Given the description of an element on the screen output the (x, y) to click on. 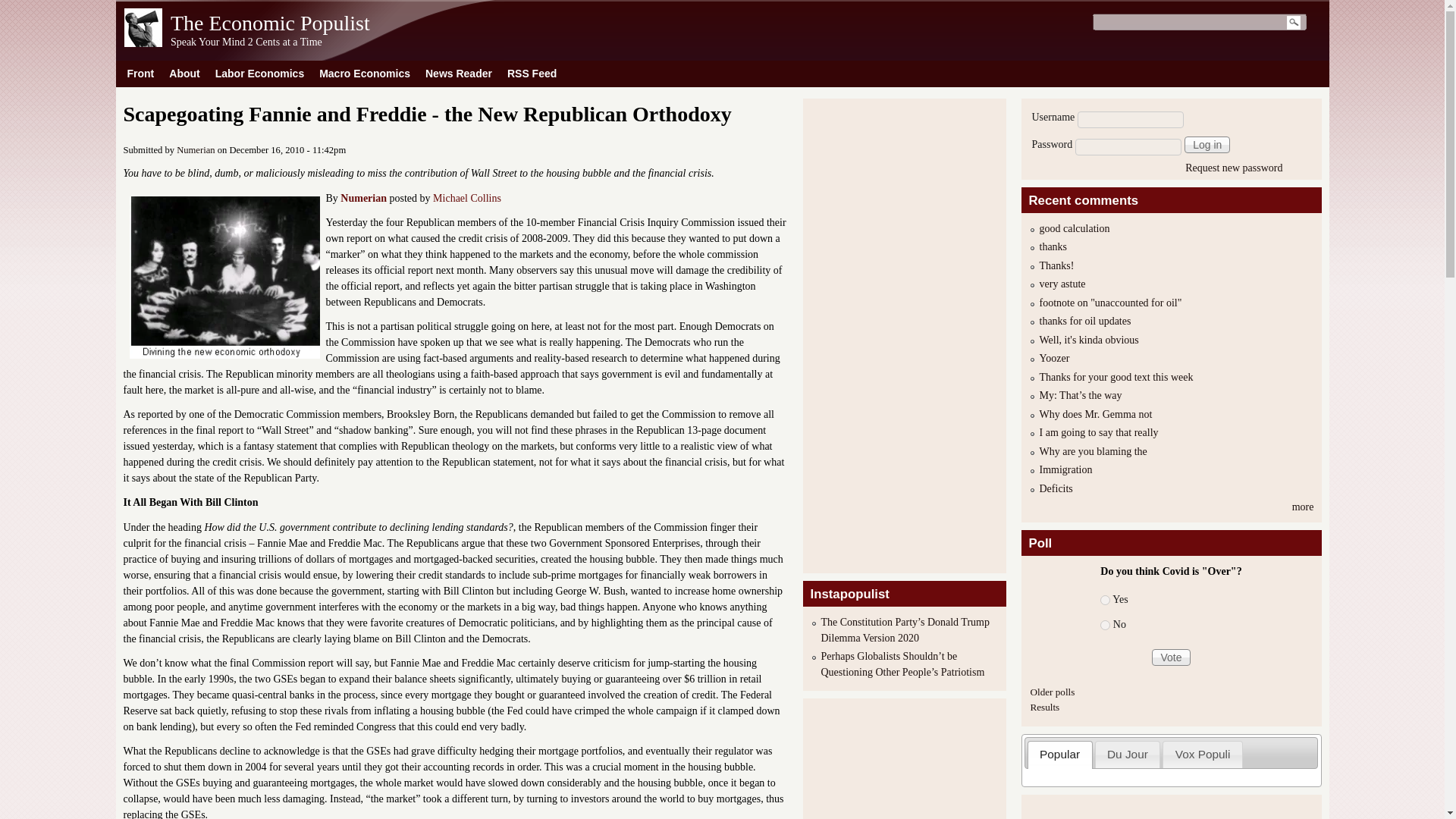
Log in (1207, 144)
294 (1104, 624)
Home page (269, 23)
About (183, 73)
The Economic Populist (269, 23)
Economic Populist Blog Feed - All Blogs, all the Time (531, 73)
RSS Feed (531, 73)
View user profile. (195, 149)
News Aggregator and Mega Blog Roll  (458, 73)
Michael Collins (466, 197)
The Economic Populist (142, 43)
News Reader (458, 73)
Front (140, 73)
Numerian (195, 149)
